Given the description of an element on the screen output the (x, y) to click on. 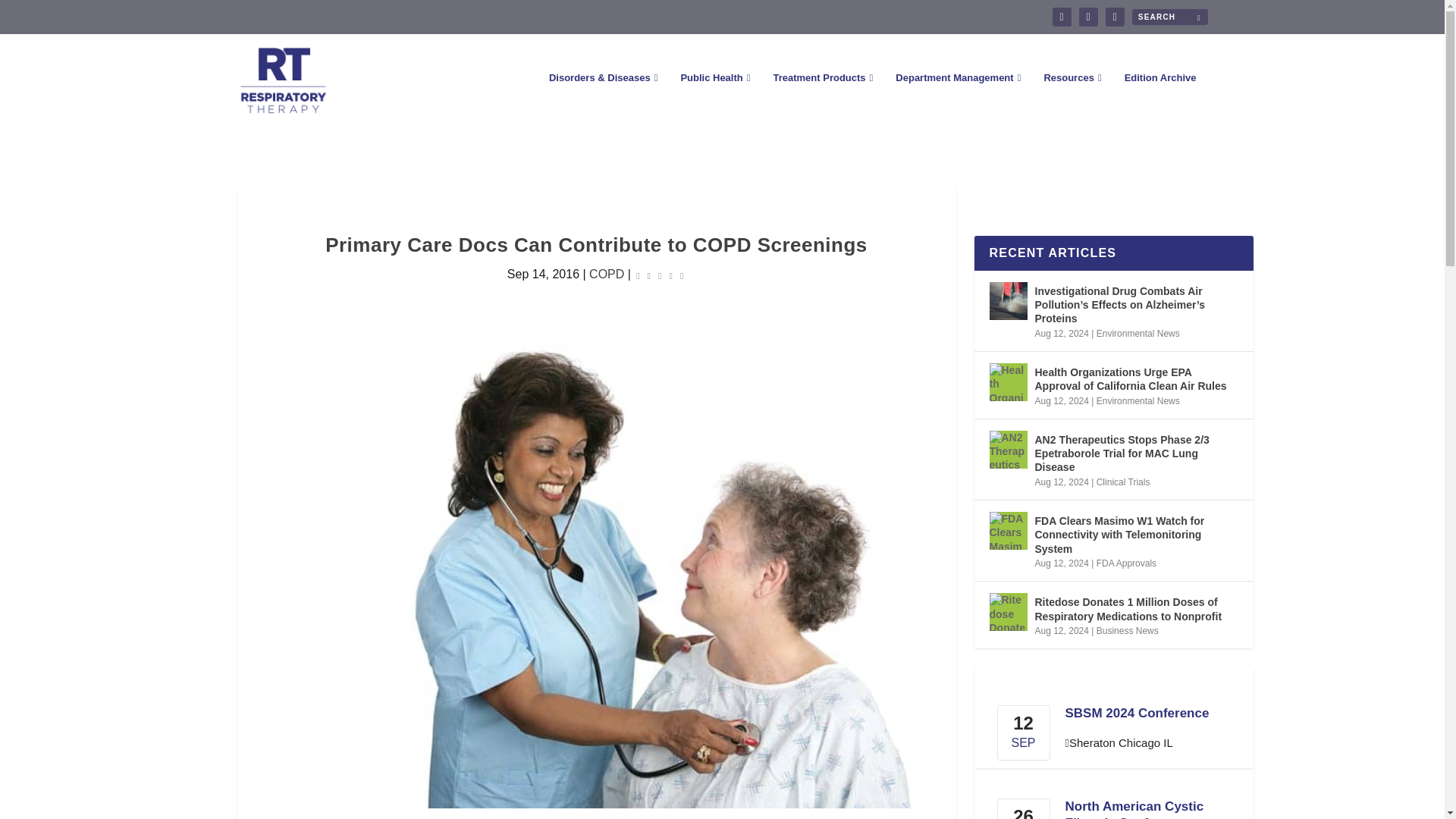
Treatment Products (822, 98)
Public Health (714, 98)
Department Management (957, 98)
Rating: 0.00 (659, 274)
Edition Archive (1160, 98)
Resources (1071, 98)
Search for: (1169, 17)
